Given the description of an element on the screen output the (x, y) to click on. 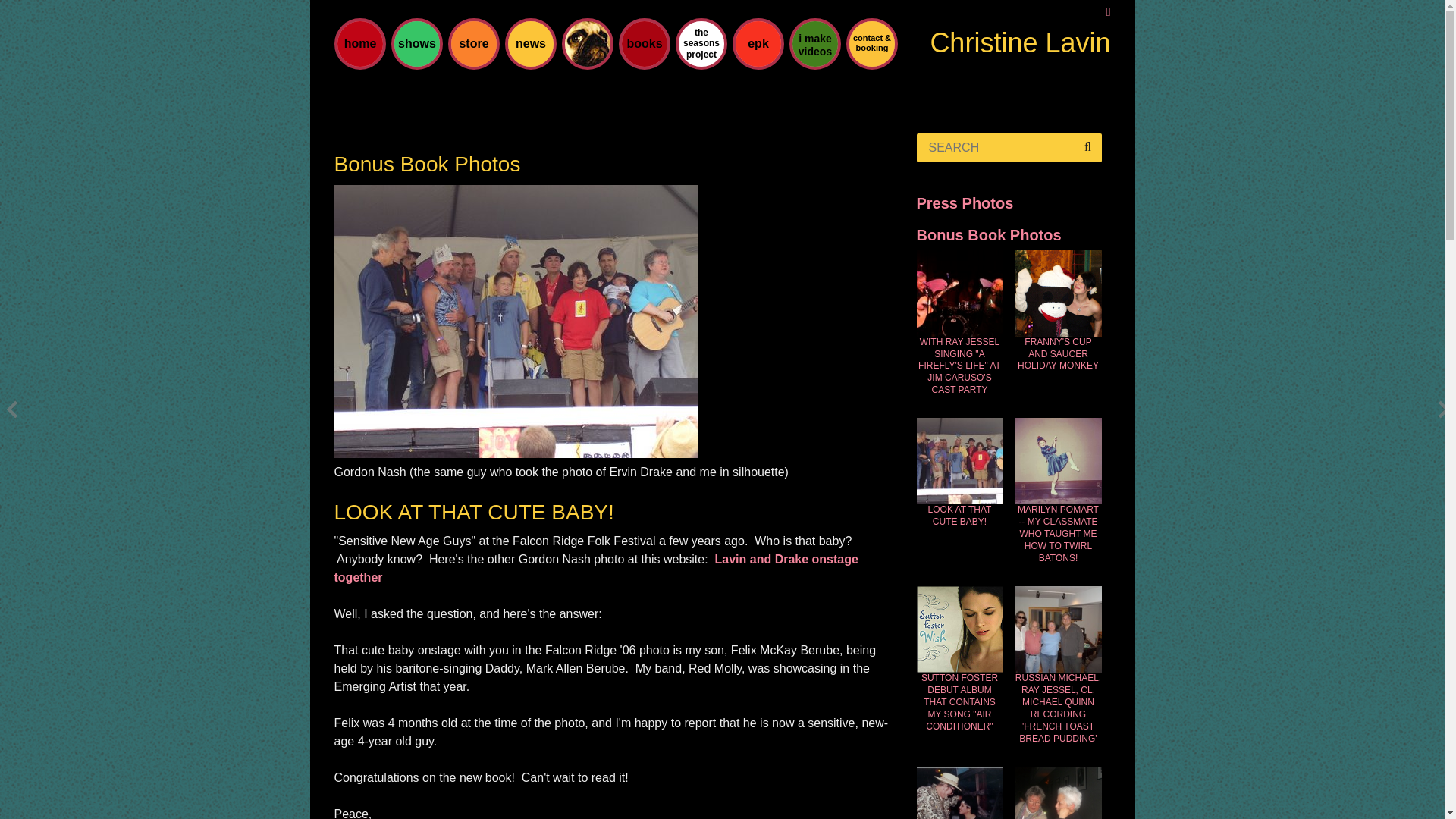
books (643, 43)
PREVIOUS (12, 409)
store (472, 43)
home (358, 43)
shows (416, 43)
the seasons project (700, 43)
Bonus Book Photos (988, 234)
i make videos (814, 43)
LOOK AT THAT CUTE BABY! (959, 516)
FRANNY'S CUP AND SAUCER HOLIDAY MONKEY (1057, 354)
NEXT IMAGE (515, 453)
Christine Lavin (1019, 42)
epk (757, 43)
